Given the description of an element on the screen output the (x, y) to click on. 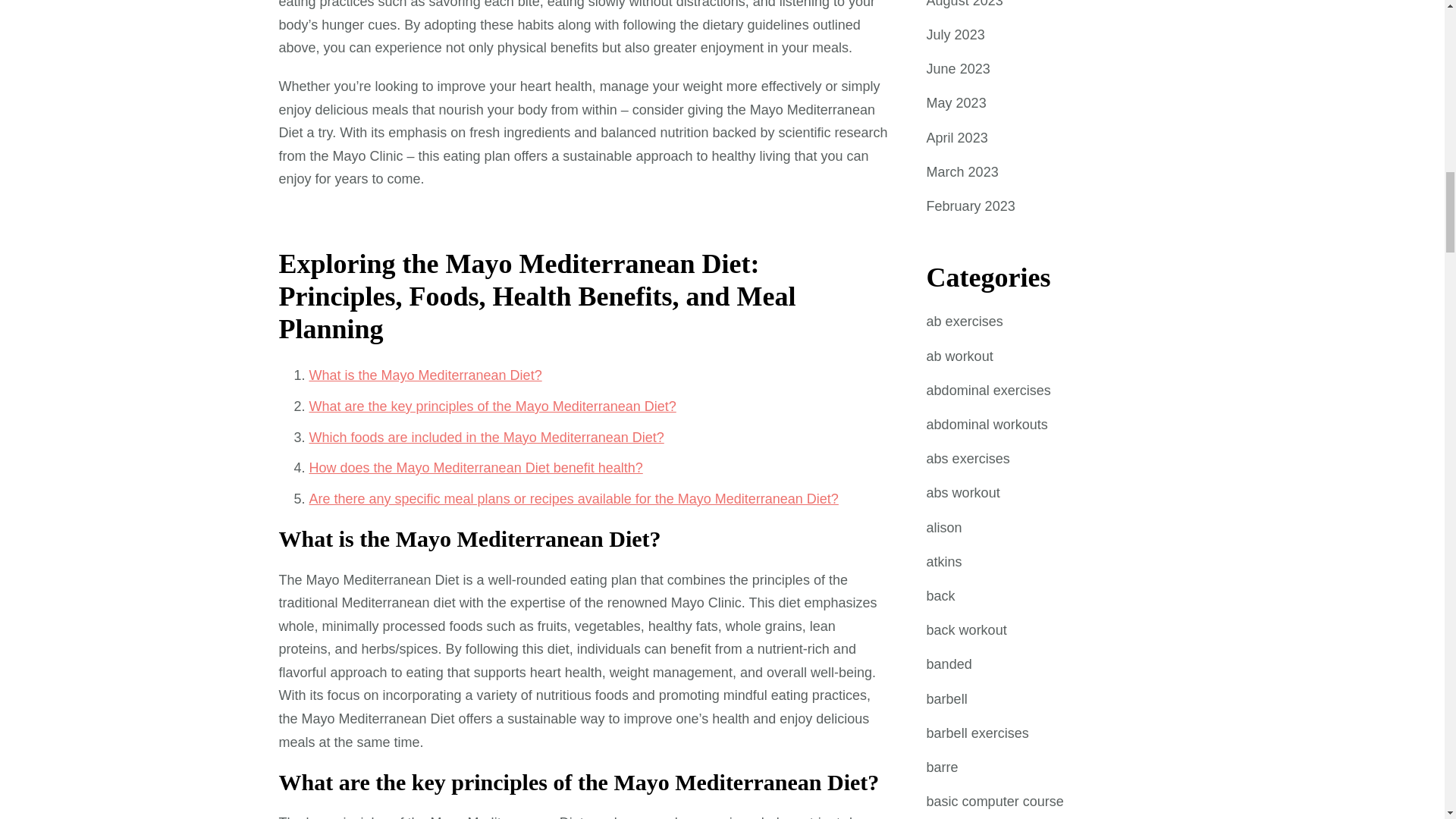
How does the Mayo Mediterranean Diet benefit health? (475, 467)
What are the key principles of the Mayo Mediterranean Diet? (492, 406)
Which foods are included in the Mayo Mediterranean Diet? (485, 437)
What is the Mayo Mediterranean Diet? (424, 375)
